Given the description of an element on the screen output the (x, y) to click on. 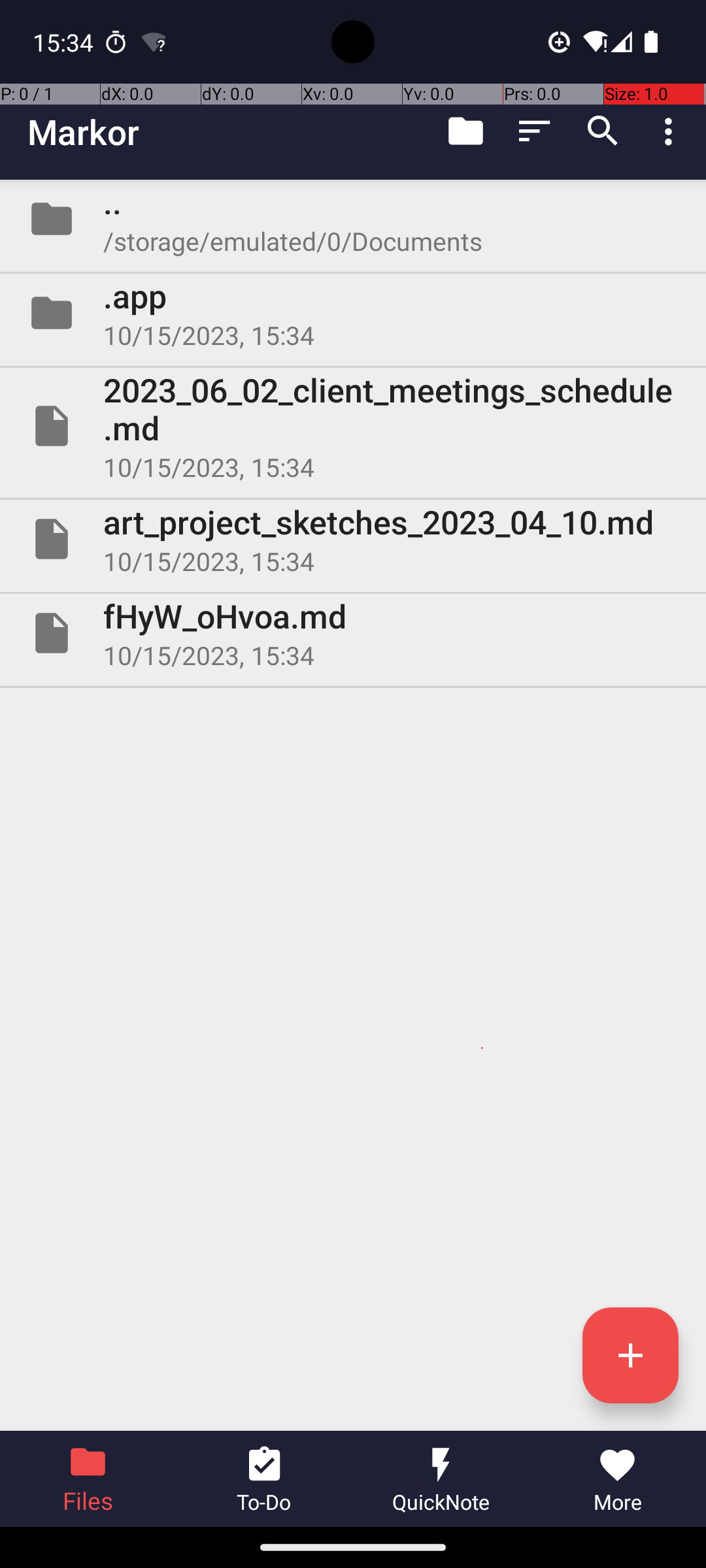
Folder .app  Element type: android.widget.LinearLayout (353, 312)
File 2023_06_02_client_meetings_schedule.md  Element type: android.widget.LinearLayout (353, 425)
File art_project_sketches_2023_04_10.md  Element type: android.widget.LinearLayout (353, 538)
File fHyW_oHvoa.md  Element type: android.widget.LinearLayout (353, 632)
